Given the description of an element on the screen output the (x, y) to click on. 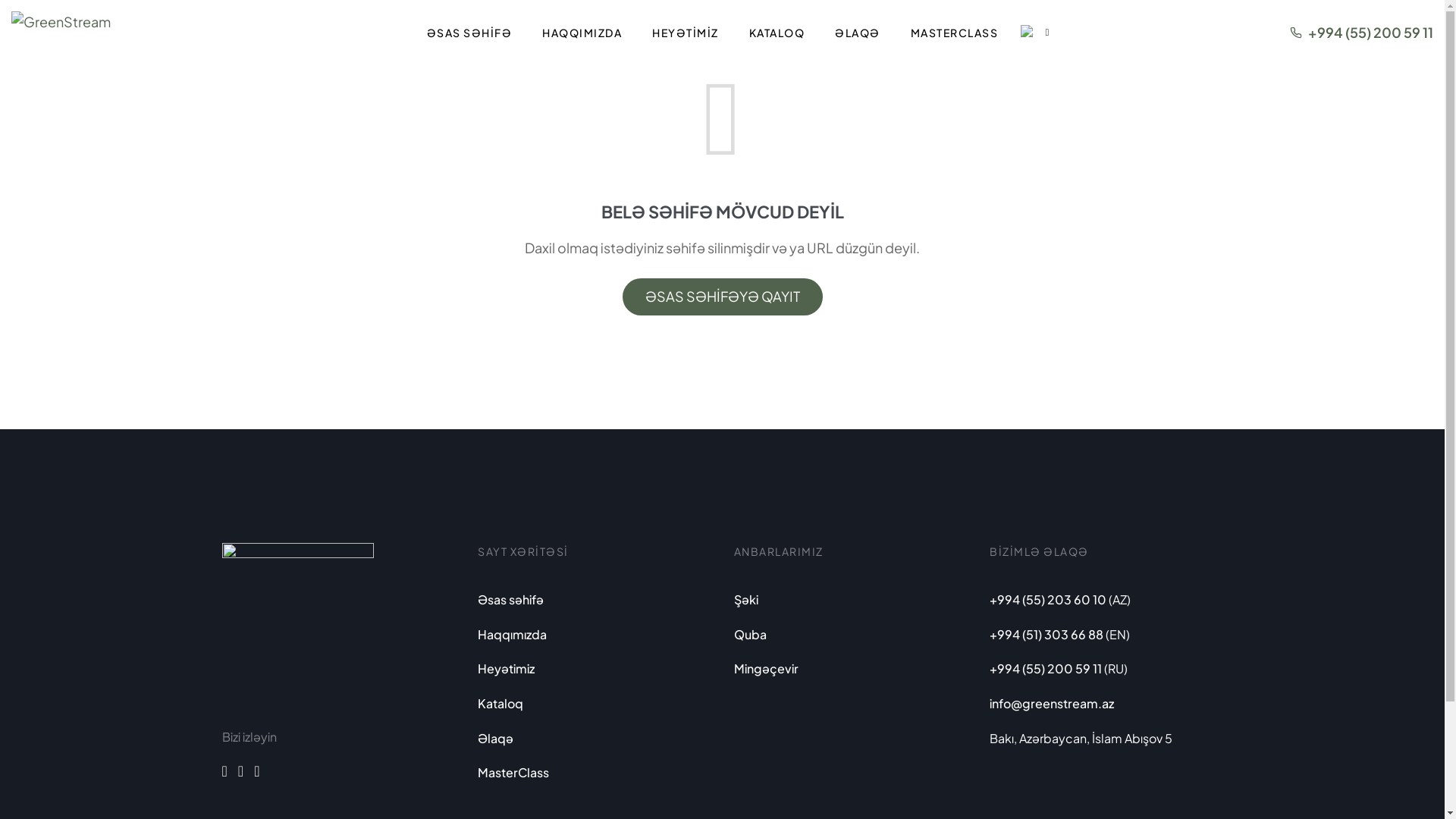
+994 (55) 203 60 10 Element type: text (1047, 599)
Kataloq Element type: text (500, 703)
HAQQIMIZDA Element type: text (581, 32)
Quba Element type: text (750, 634)
+994 (55) 200 59 11 Element type: text (1370, 31)
KATALOQ Element type: text (777, 32)
MASTERCLASS Element type: text (954, 32)
+994 (51) 303 66 88 Element type: text (1046, 634)
+994 (55) 200 59 11 Element type: text (1045, 668)
MasterClass Element type: text (513, 772)
info@greenstream.az Element type: text (1051, 703)
